Given the description of an element on the screen output the (x, y) to click on. 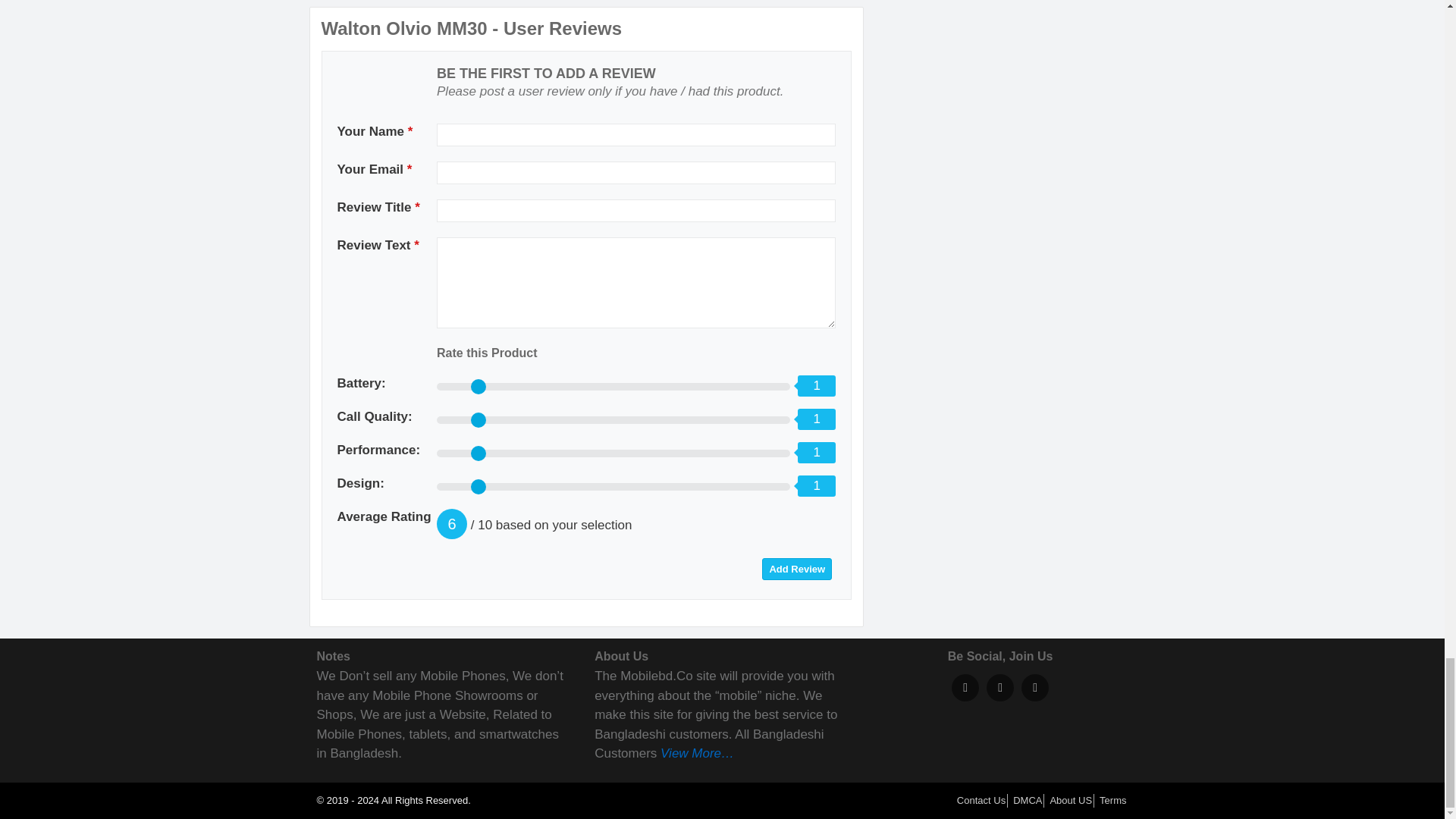
Add Review (796, 568)
1 (613, 420)
Add Review (796, 568)
1 (613, 386)
1 (613, 486)
1 (613, 453)
